Given the description of an element on the screen output the (x, y) to click on. 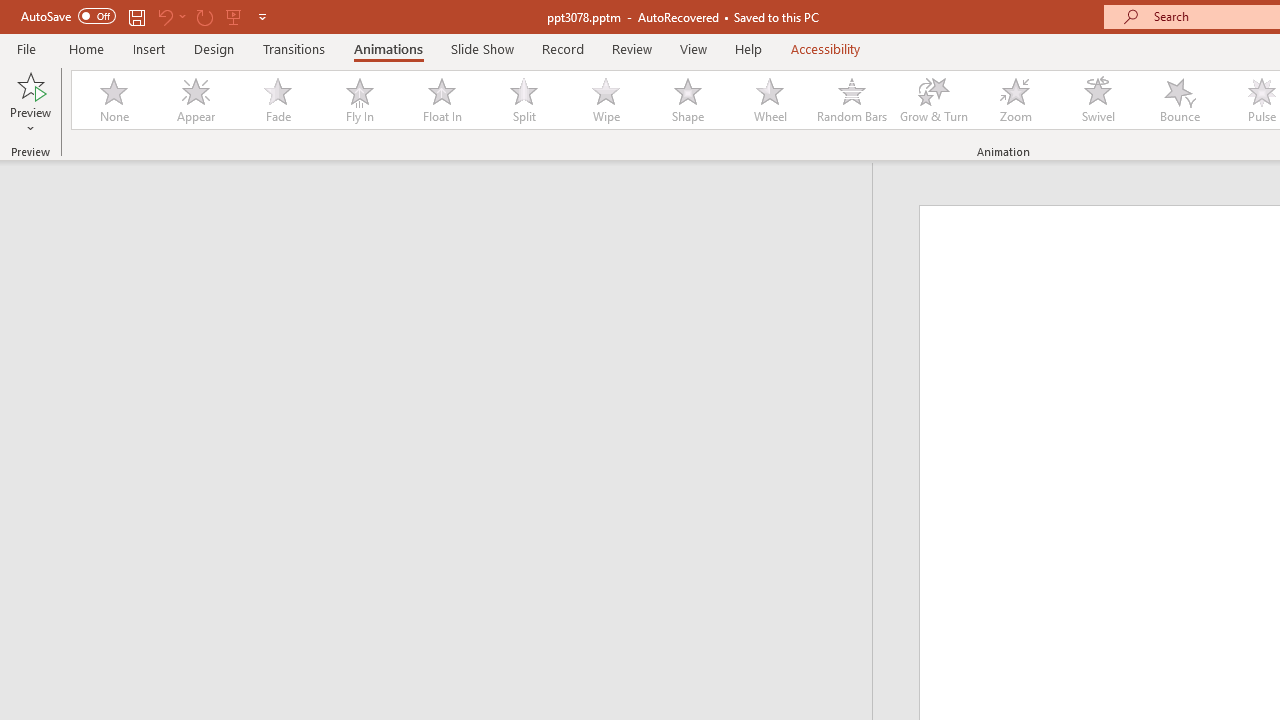
Fly In (359, 100)
Random Bars (852, 100)
Swivel (1098, 100)
